Given the description of an element on the screen output the (x, y) to click on. 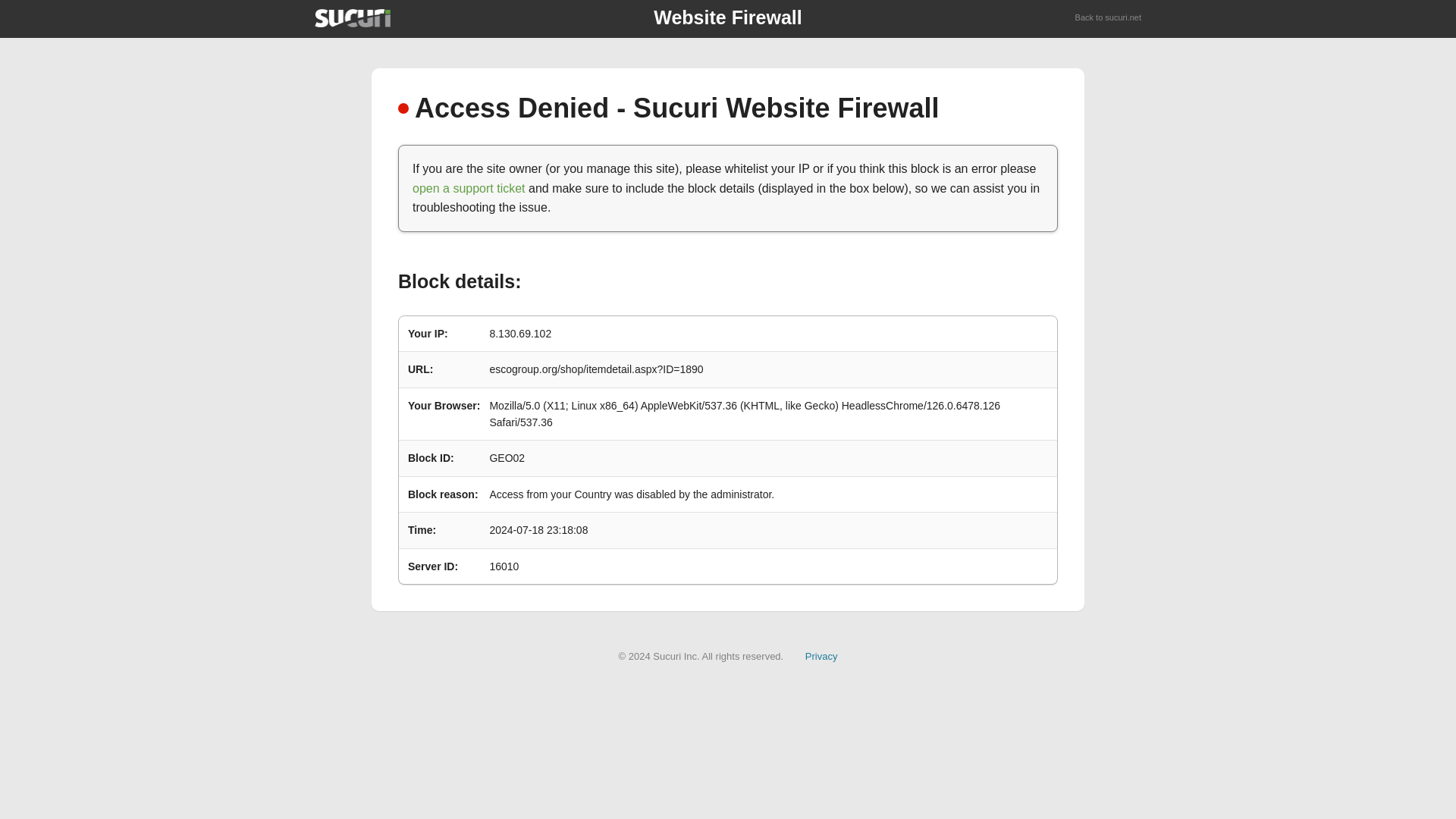
Back to sucuri.net (1108, 18)
Privacy (821, 655)
open a support ticket (468, 187)
